Given the description of an element on the screen output the (x, y) to click on. 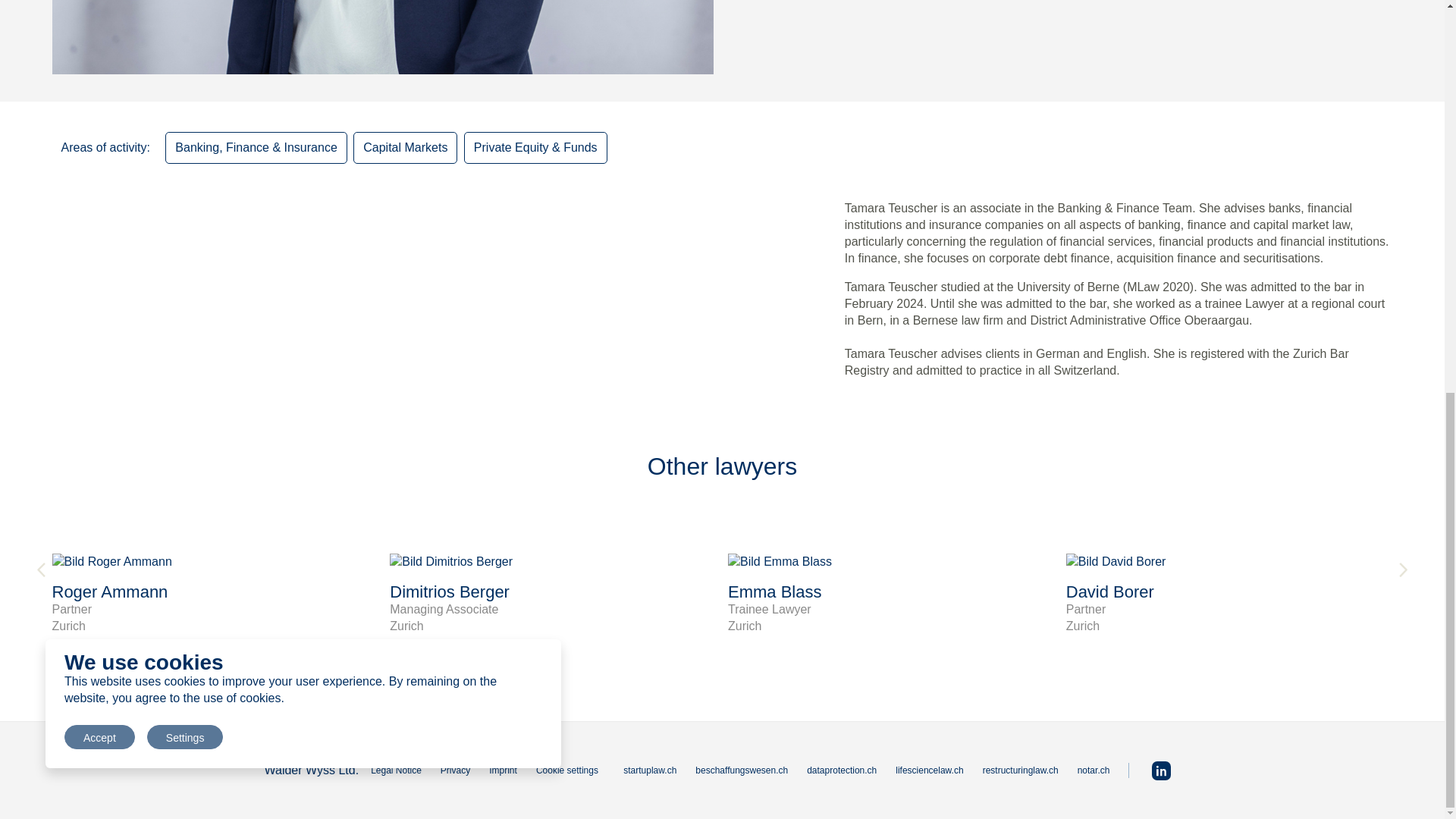
Capital Markets (553, 593)
